Given the description of an element on the screen output the (x, y) to click on. 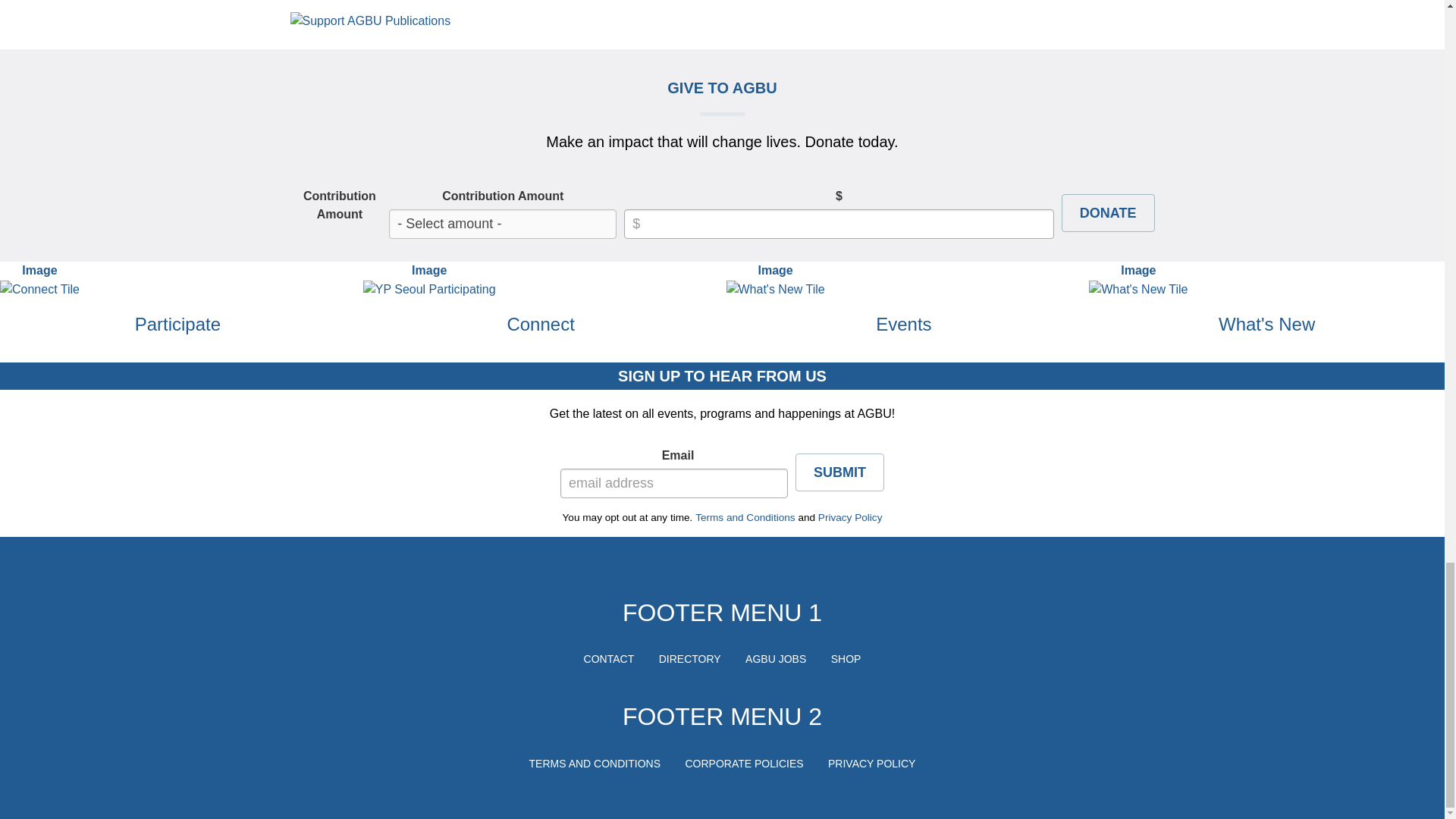
Submit (838, 472)
Donate (1107, 212)
